Given the description of an element on the screen output the (x, y) to click on. 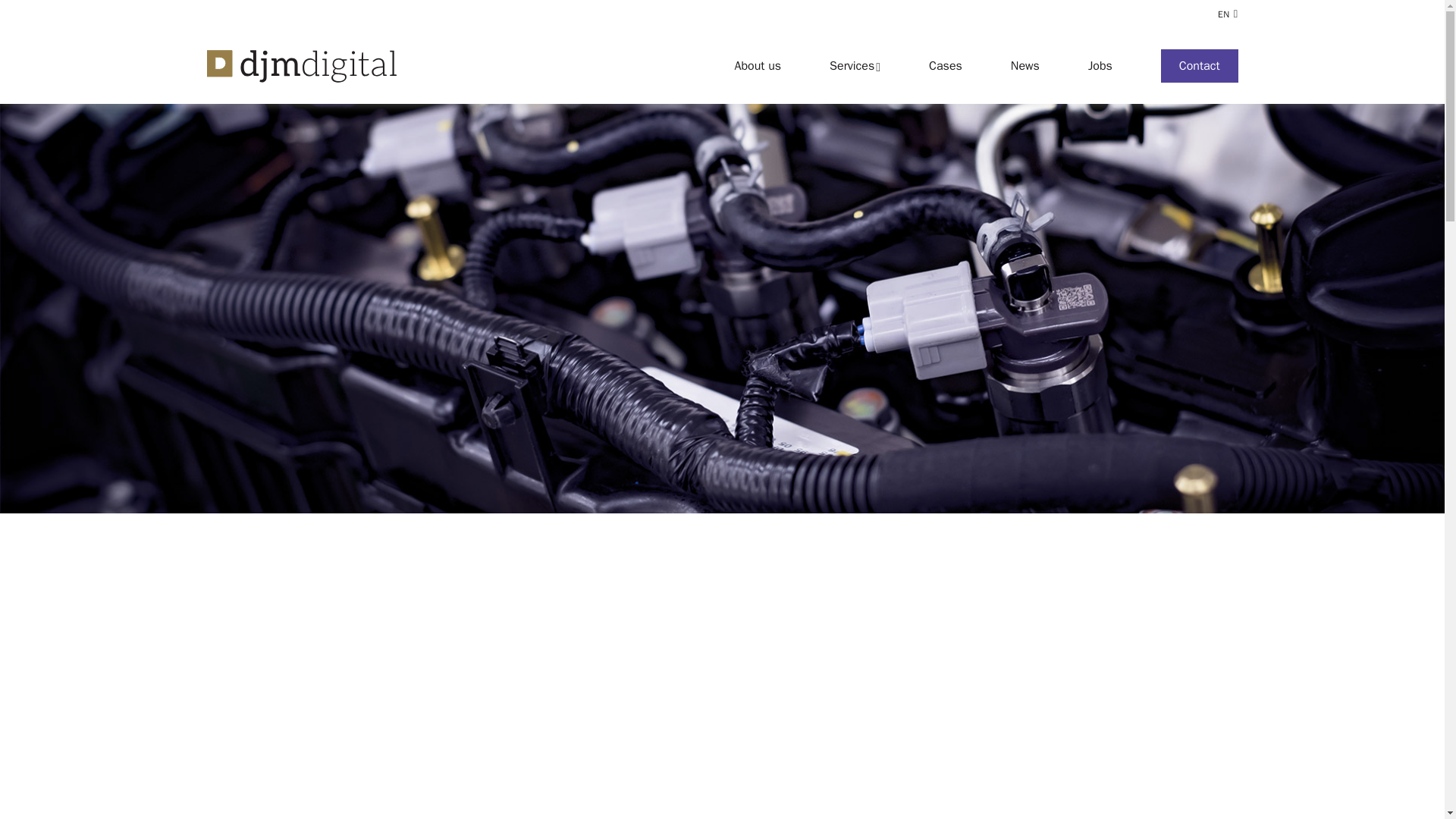
EN (1227, 14)
Contact (1175, 65)
Services (830, 65)
About us (745, 65)
Cases (921, 65)
News (1000, 65)
Jobs (1075, 65)
